Given the description of an element on the screen output the (x, y) to click on. 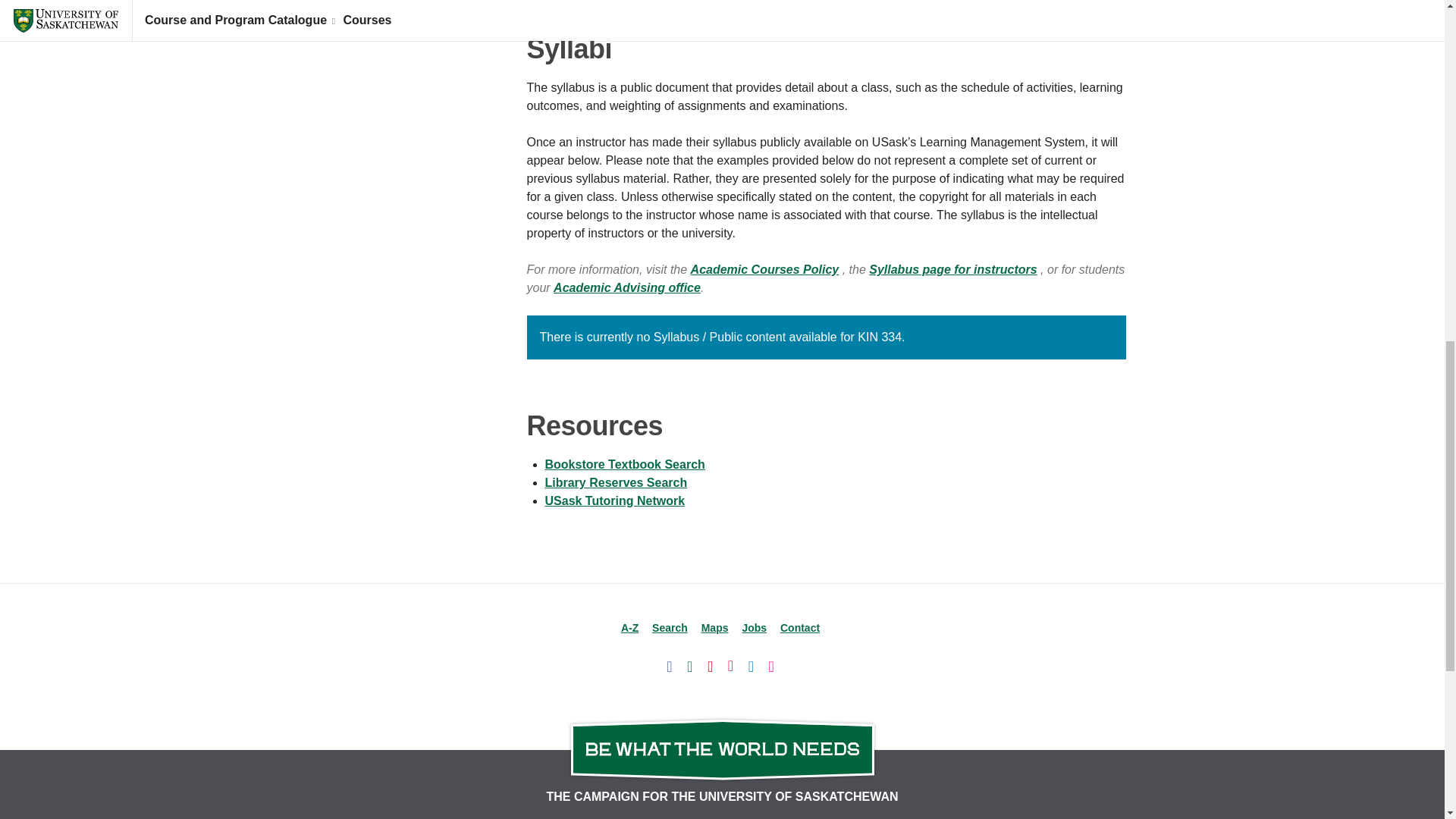
A-Z (630, 627)
Academic Advising office (626, 287)
Syllabus page for instructors (952, 269)
Search (669, 627)
USask Tutoring Network (614, 500)
Bookstore Textbook Search (624, 463)
Library Reserves Search (615, 481)
Jobs (754, 627)
Academic Courses Policy (765, 269)
Contact (799, 627)
Maps (715, 627)
